Given the description of an element on the screen output the (x, y) to click on. 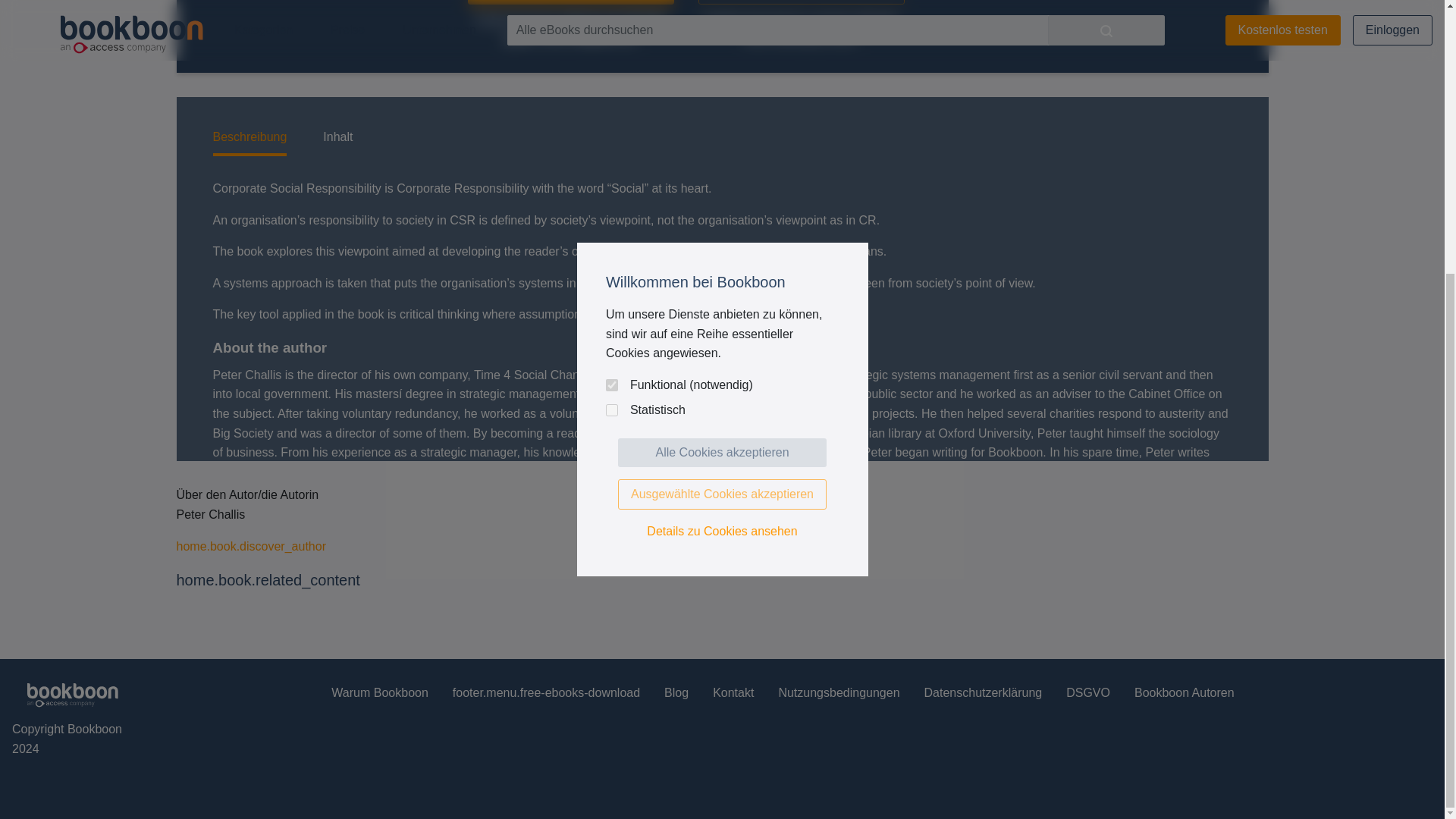
STATISTICAL (611, 7)
Alle Cookies akzeptieren (722, 50)
Details zu Cookies ansehen (722, 128)
